Given the description of an element on the screen output the (x, y) to click on. 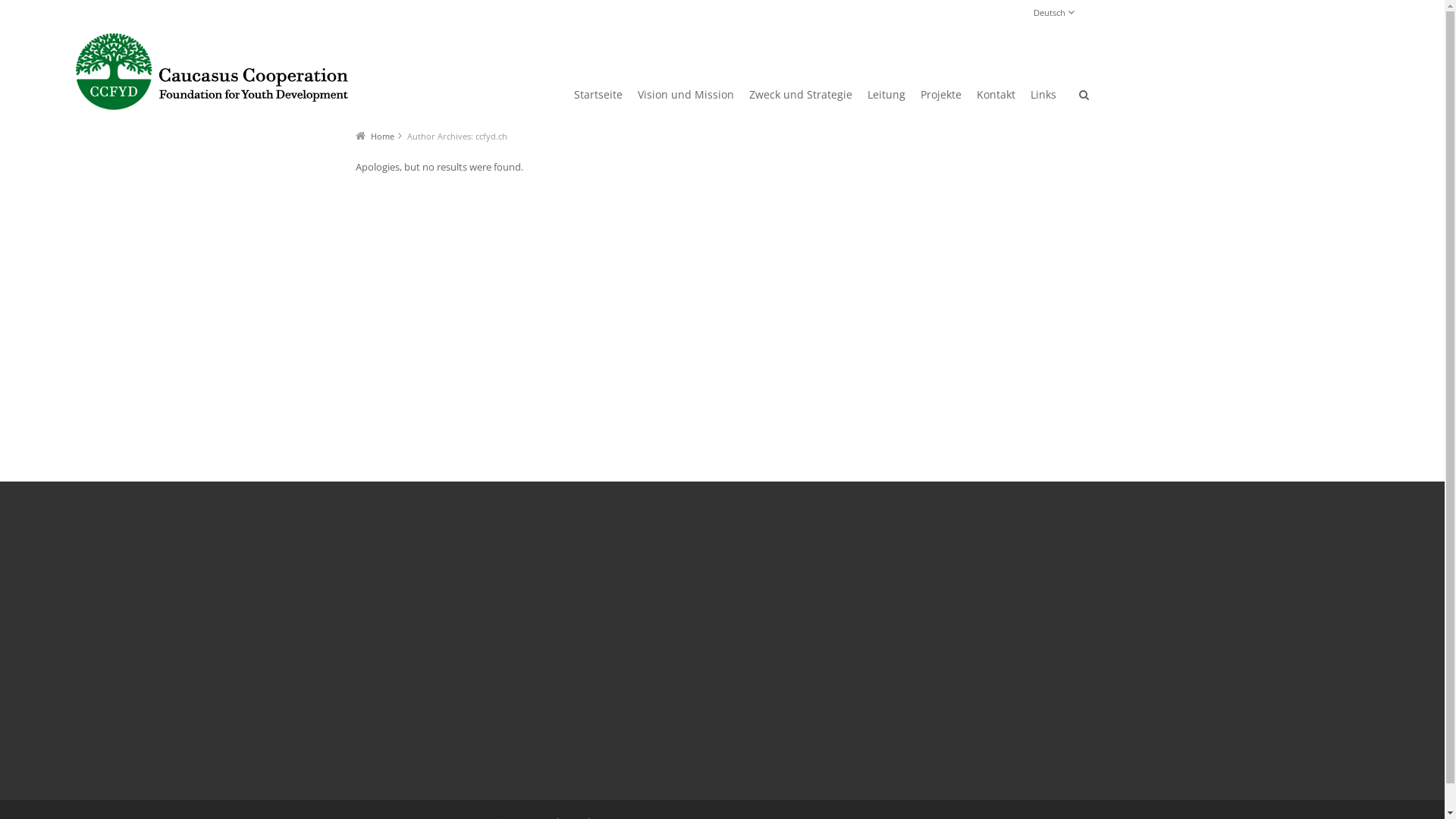
Home Element type: text (381, 135)
Vision und Mission Element type: text (684, 98)
Projekte Element type: text (941, 98)
Search Element type: text (1065, 200)
Go back to the homepage Element type: hover (211, 70)
Deutsch Element type: text (1052, 12)
Leitung Element type: text (886, 98)
Zweck und Strategie Element type: text (800, 98)
Startseite Element type: text (597, 98)
  Element type: text (1083, 98)
Links Element type: text (1042, 98)
Kontakt Element type: text (995, 98)
